Given the description of an element on the screen output the (x, y) to click on. 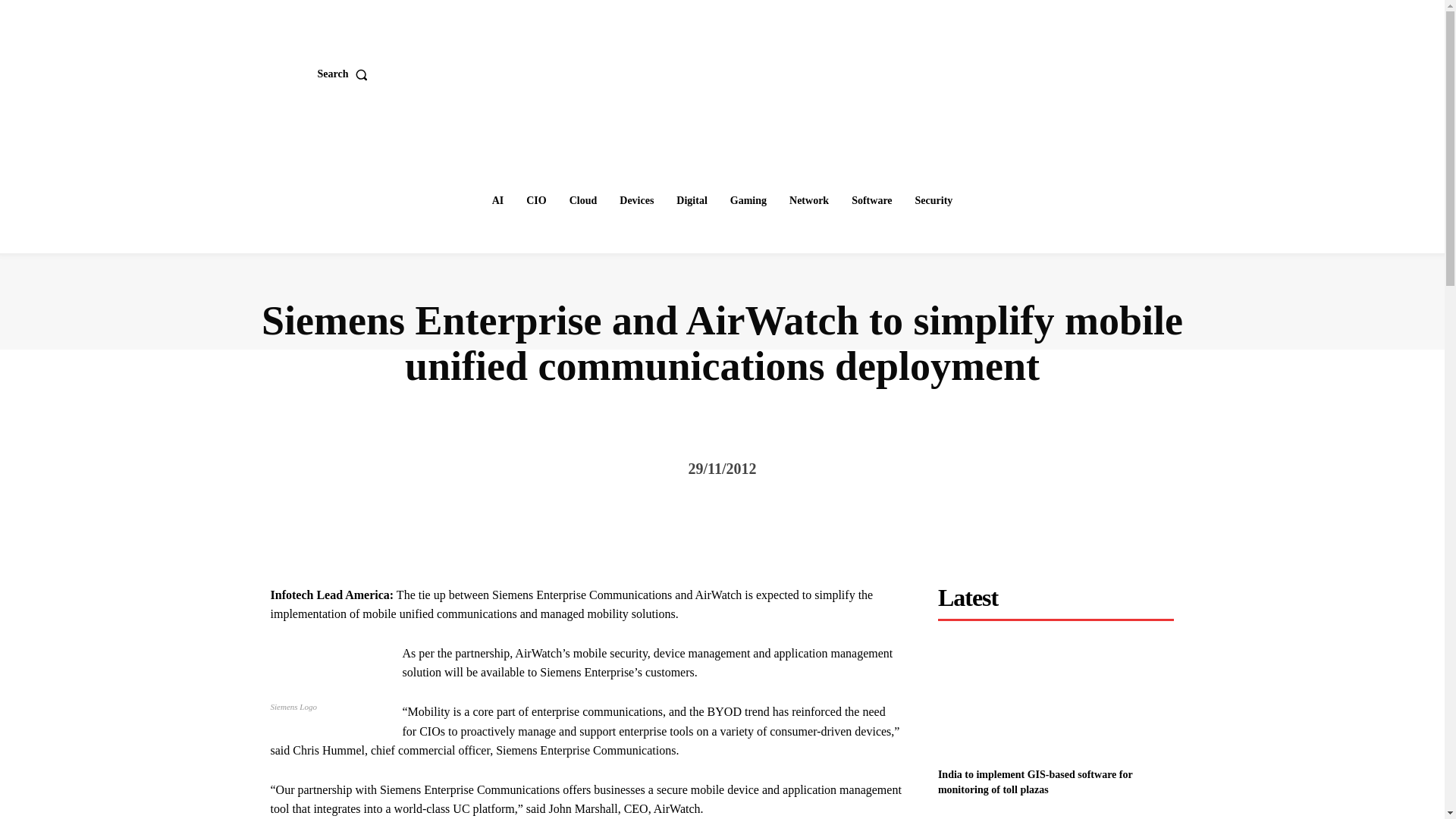
Search (345, 74)
Cloud (583, 201)
CIO (535, 201)
